Given the description of an element on the screen output the (x, y) to click on. 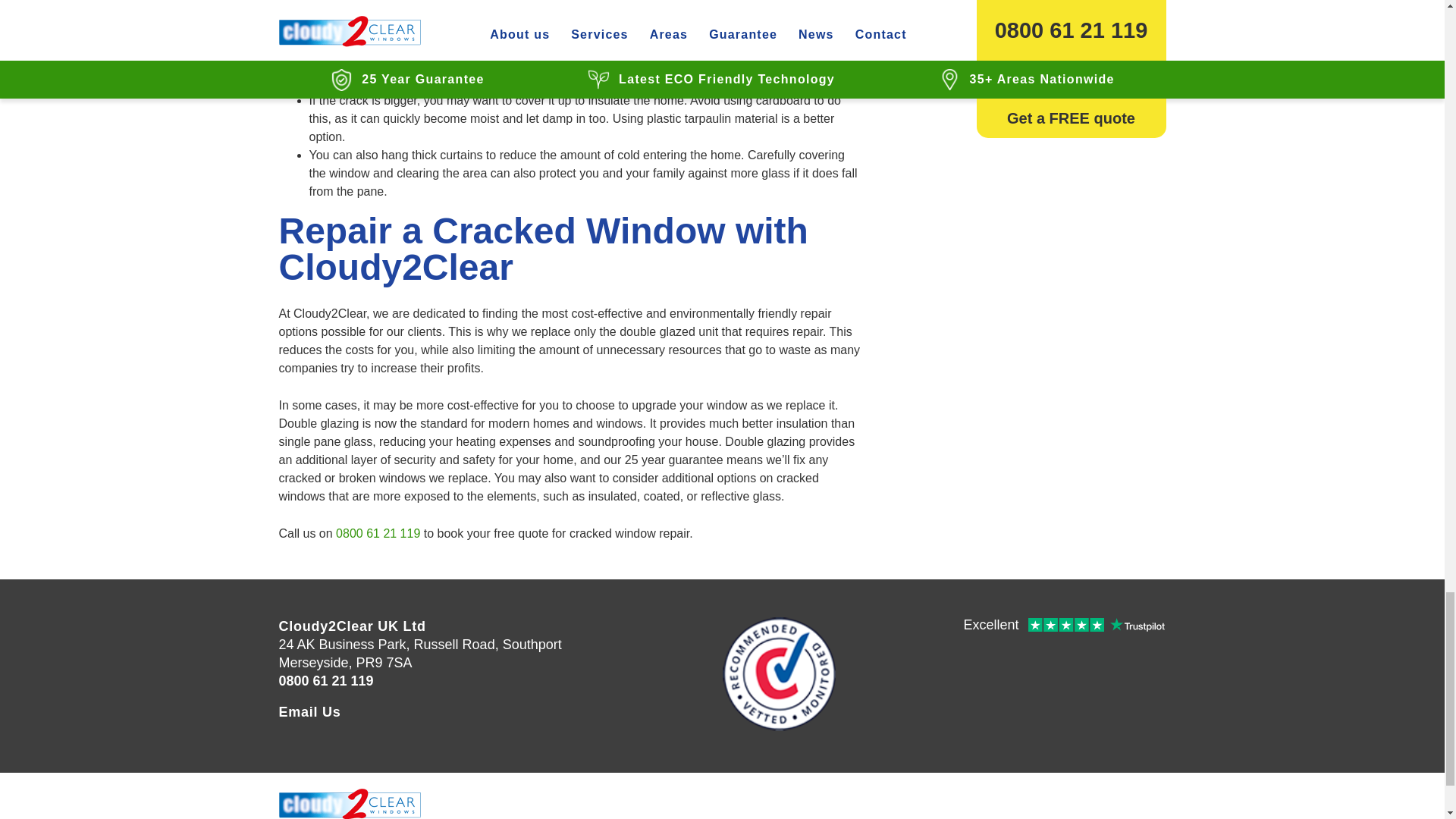
Customer reviews powered by Trustpilot (1063, 626)
